Given the description of an element on the screen output the (x, y) to click on. 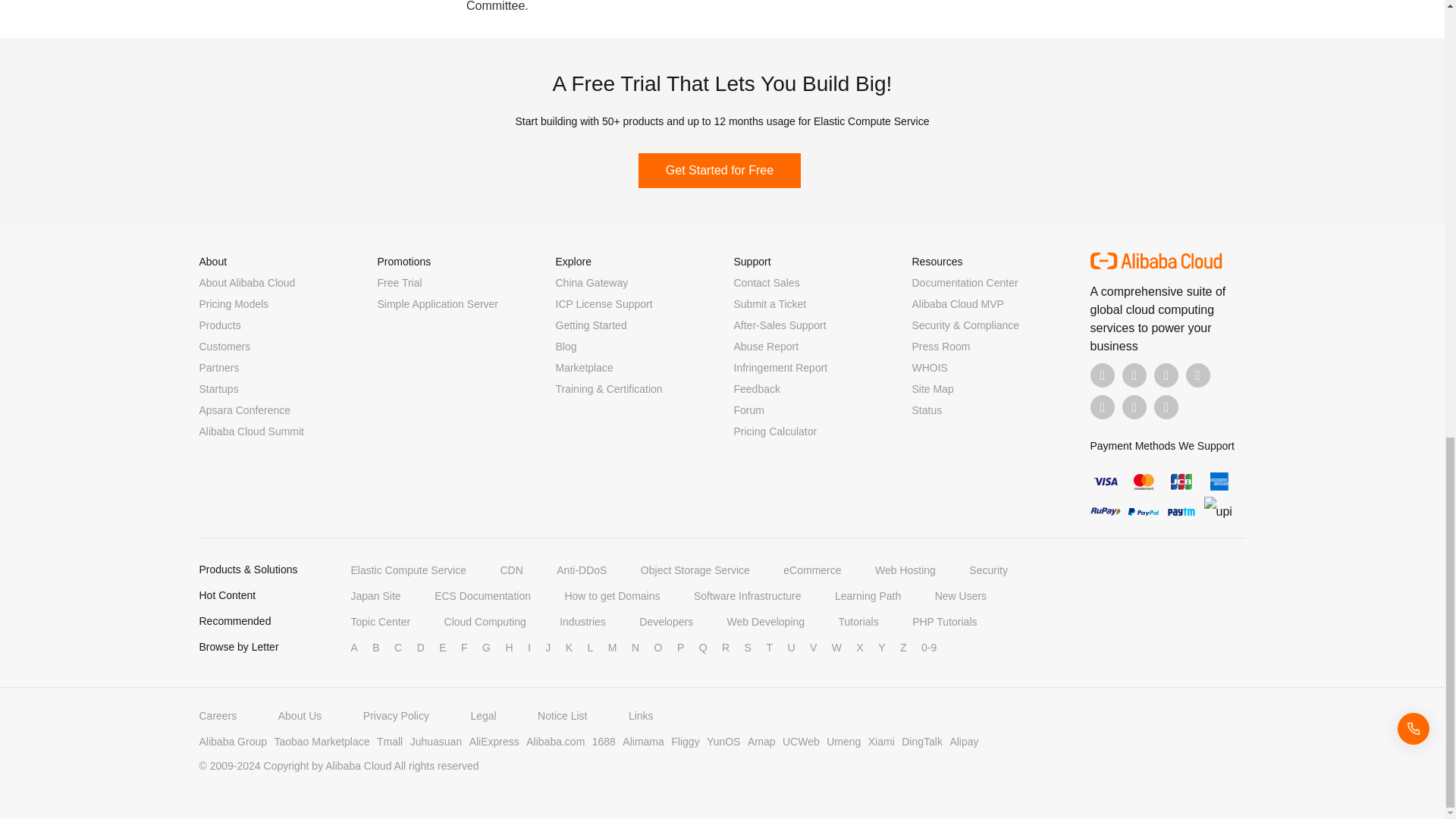
TikTok (1102, 406)
Twitter (1165, 375)
Linkedin (1134, 375)
Call Us Now (1165, 406)
YouTube (1197, 375)
Facebook (1102, 375)
